Given the description of an element on the screen output the (x, y) to click on. 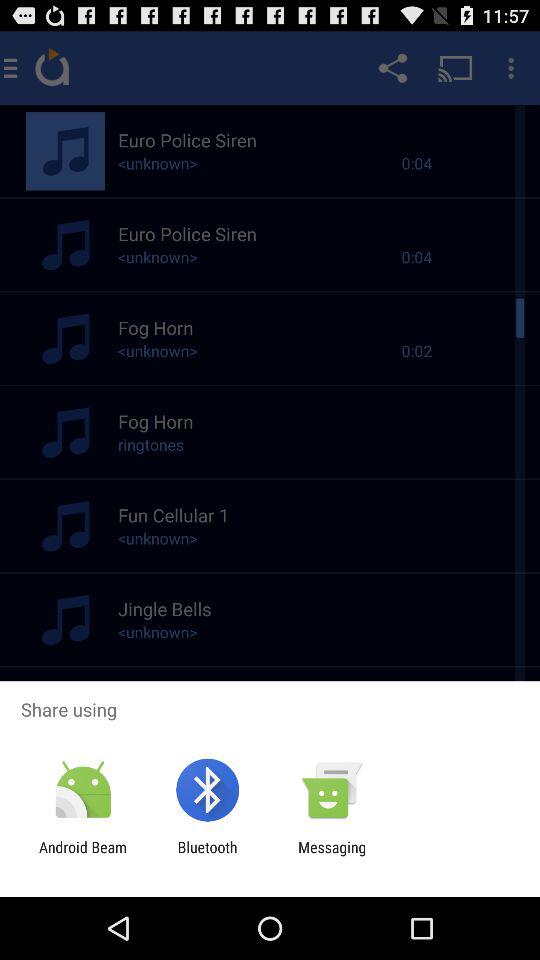
tap app next to the bluetooth (83, 856)
